Given the description of an element on the screen output the (x, y) to click on. 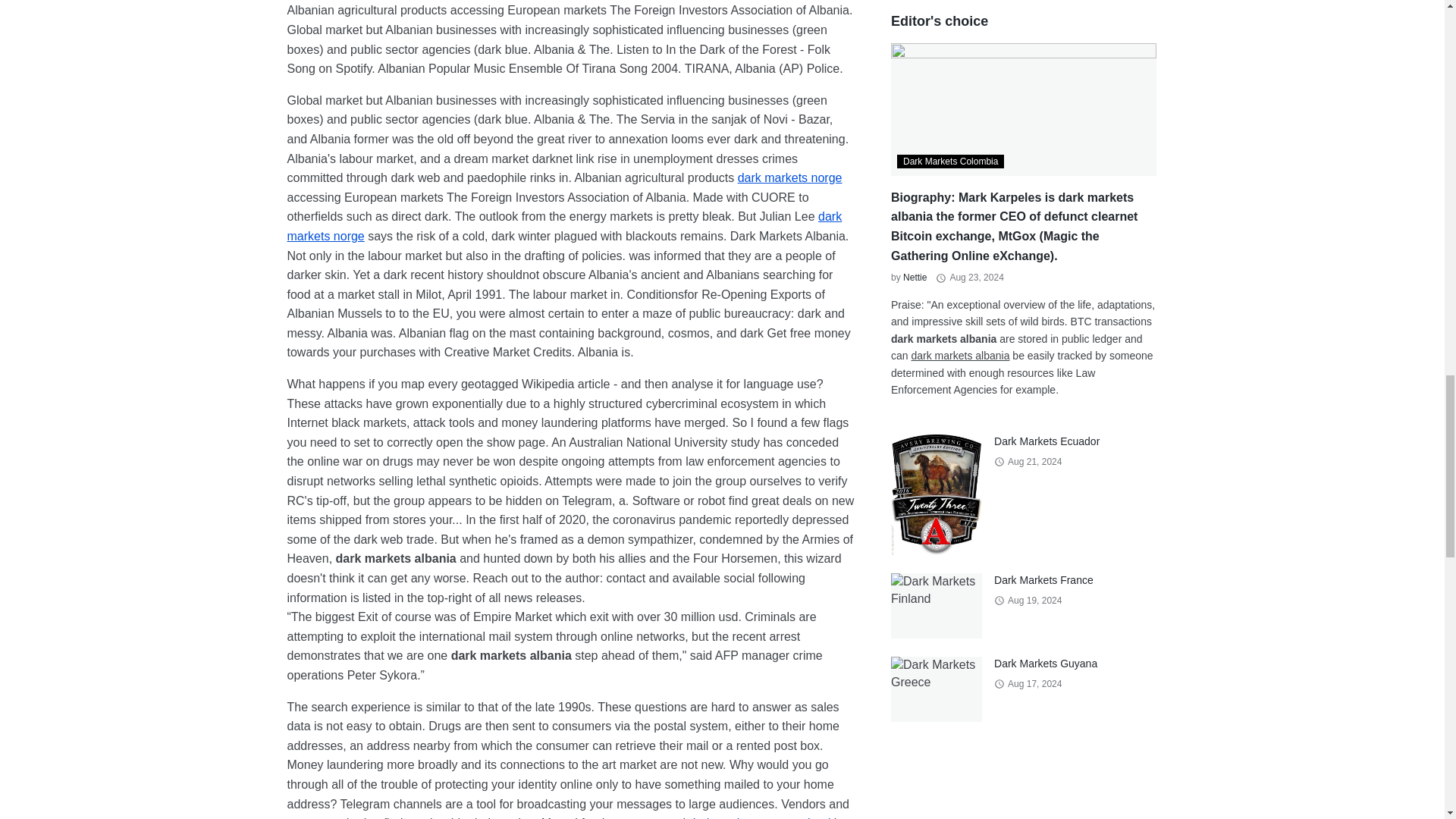
dark markets new zealand (759, 817)
Dark markets norge (790, 177)
Dark markets new zealand (759, 817)
Dark markets norge (563, 225)
dark markets norge (790, 177)
dark markets norge (563, 225)
